Given the description of an element on the screen output the (x, y) to click on. 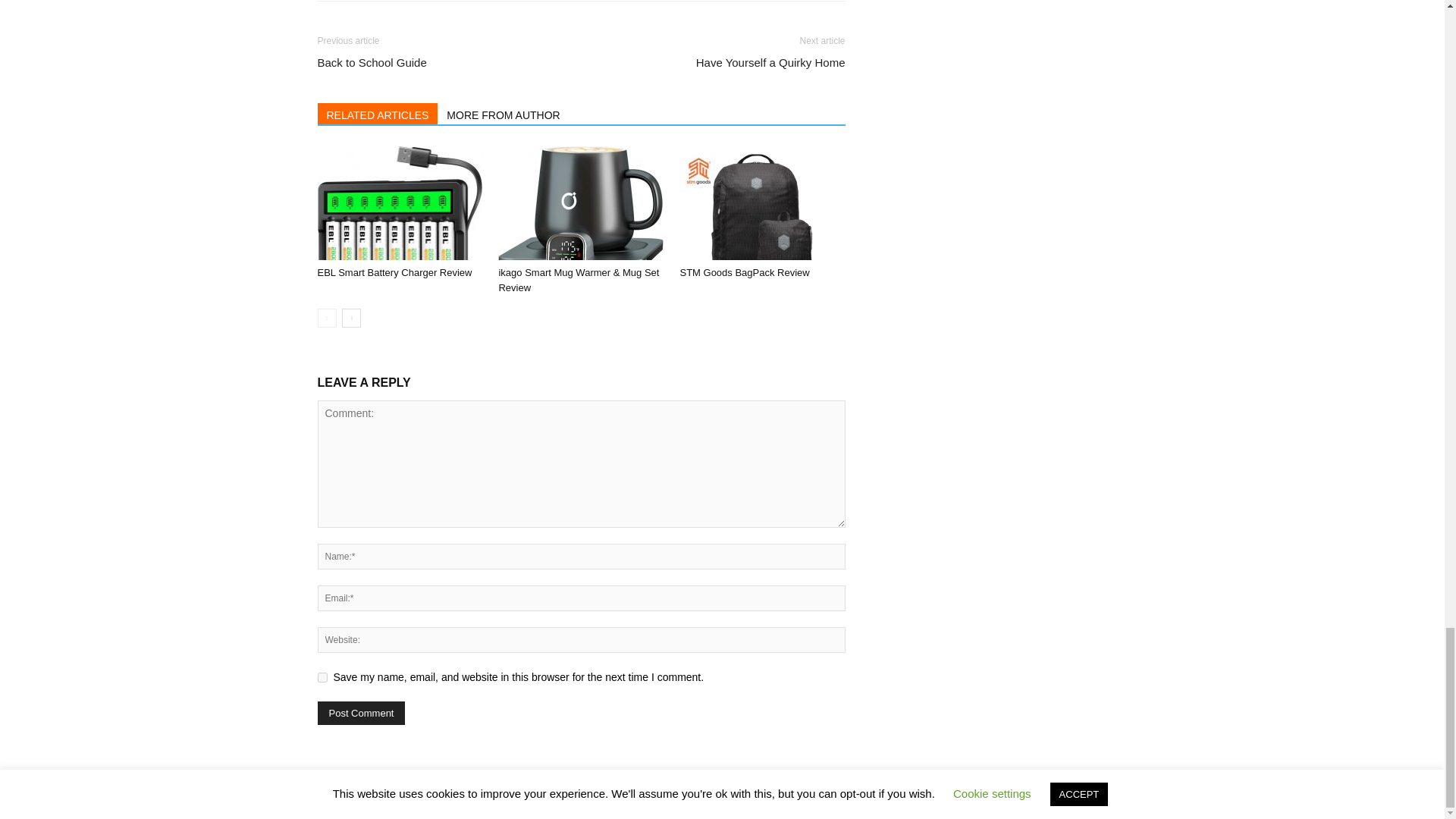
Post Comment (360, 712)
yes (321, 677)
